Given the description of an element on the screen output the (x, y) to click on. 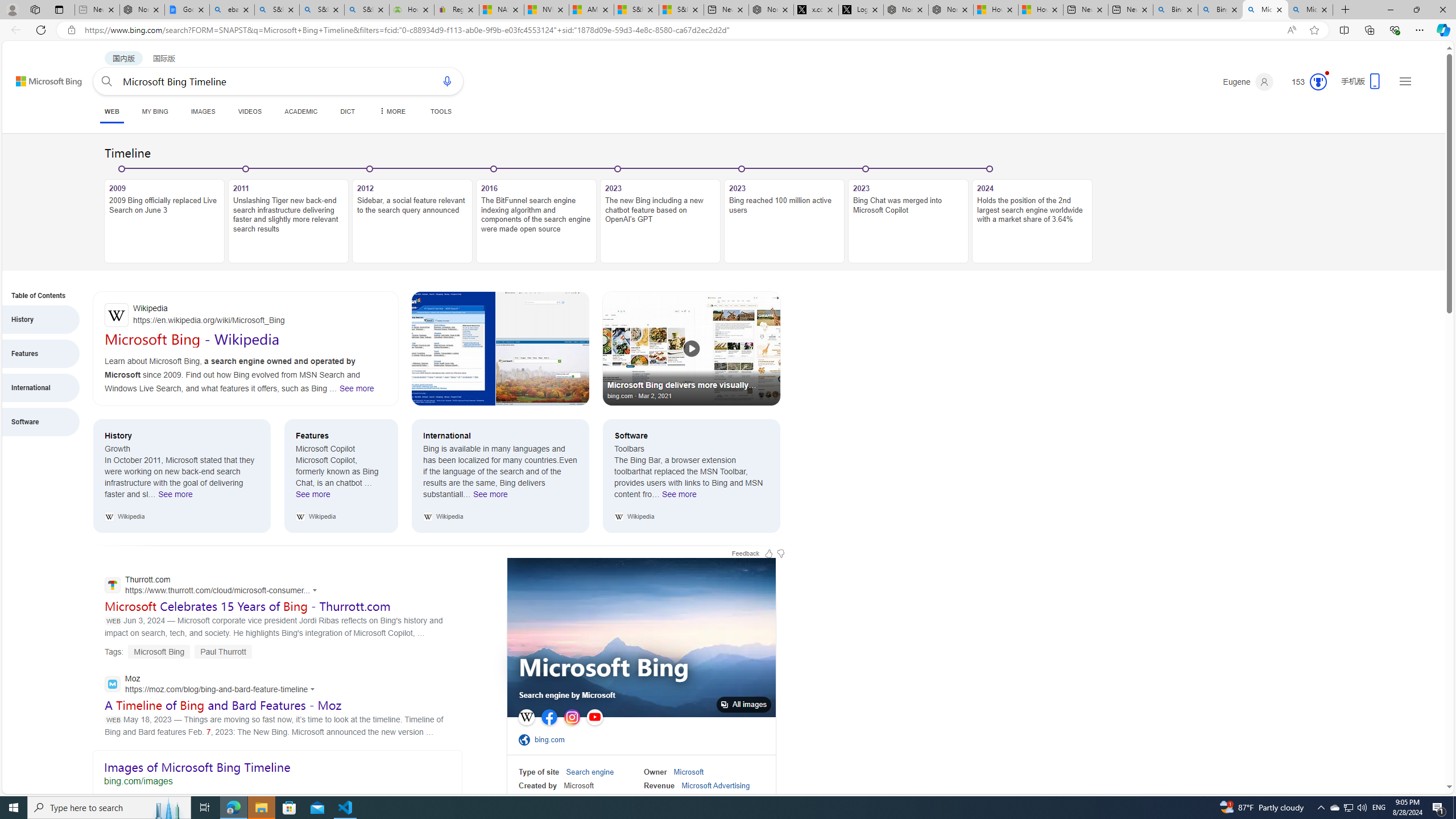
Back to Bing search (41, 78)
Global web icon (111, 683)
Microsoft Advertising (715, 785)
VIDEOS (249, 111)
See more Features (312, 496)
Moz (212, 684)
x.com/NordaceOfficial (816, 9)
